Given the description of an element on the screen output the (x, y) to click on. 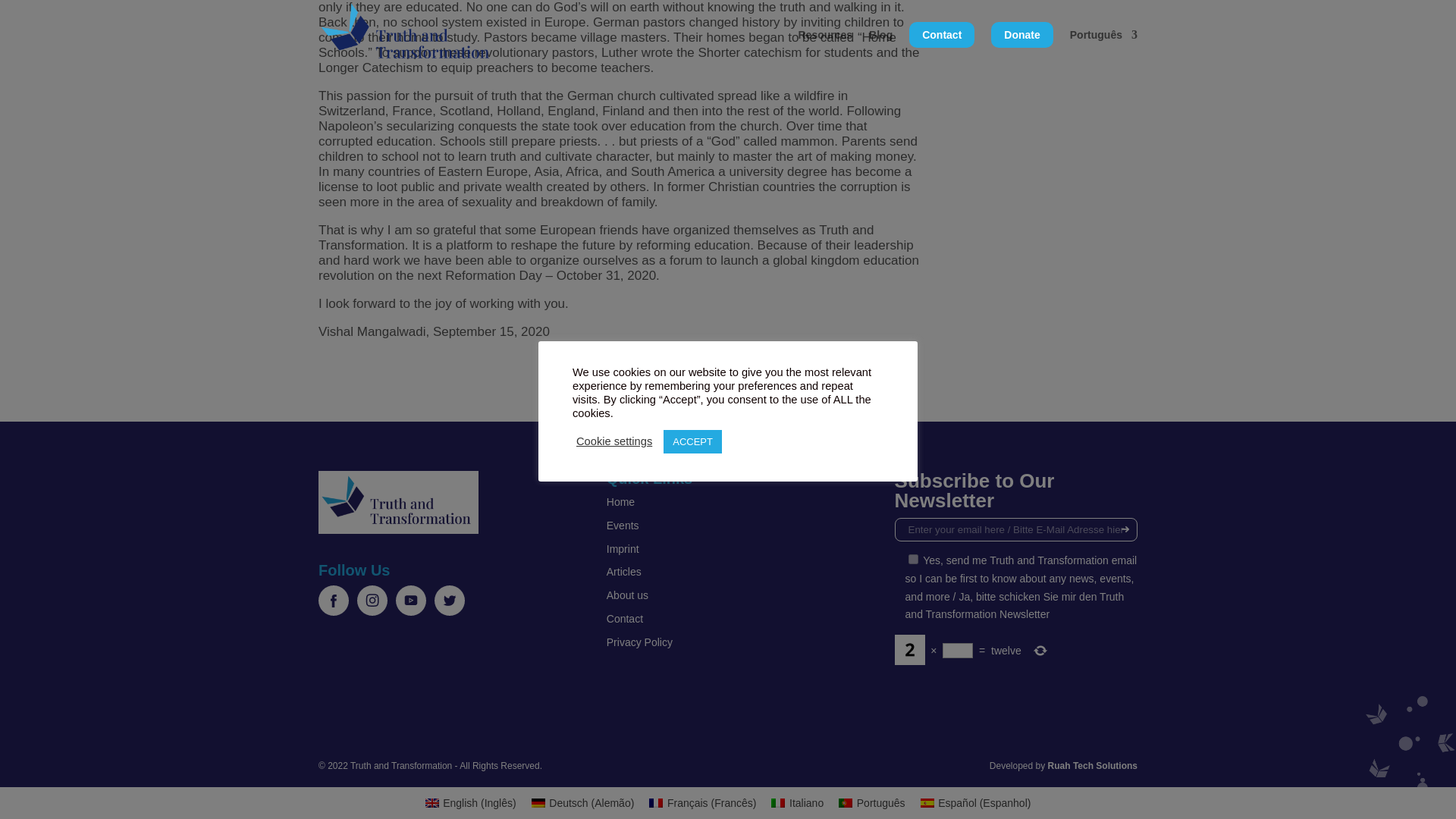
Send (1125, 529)
